Given the description of an element on the screen output the (x, y) to click on. 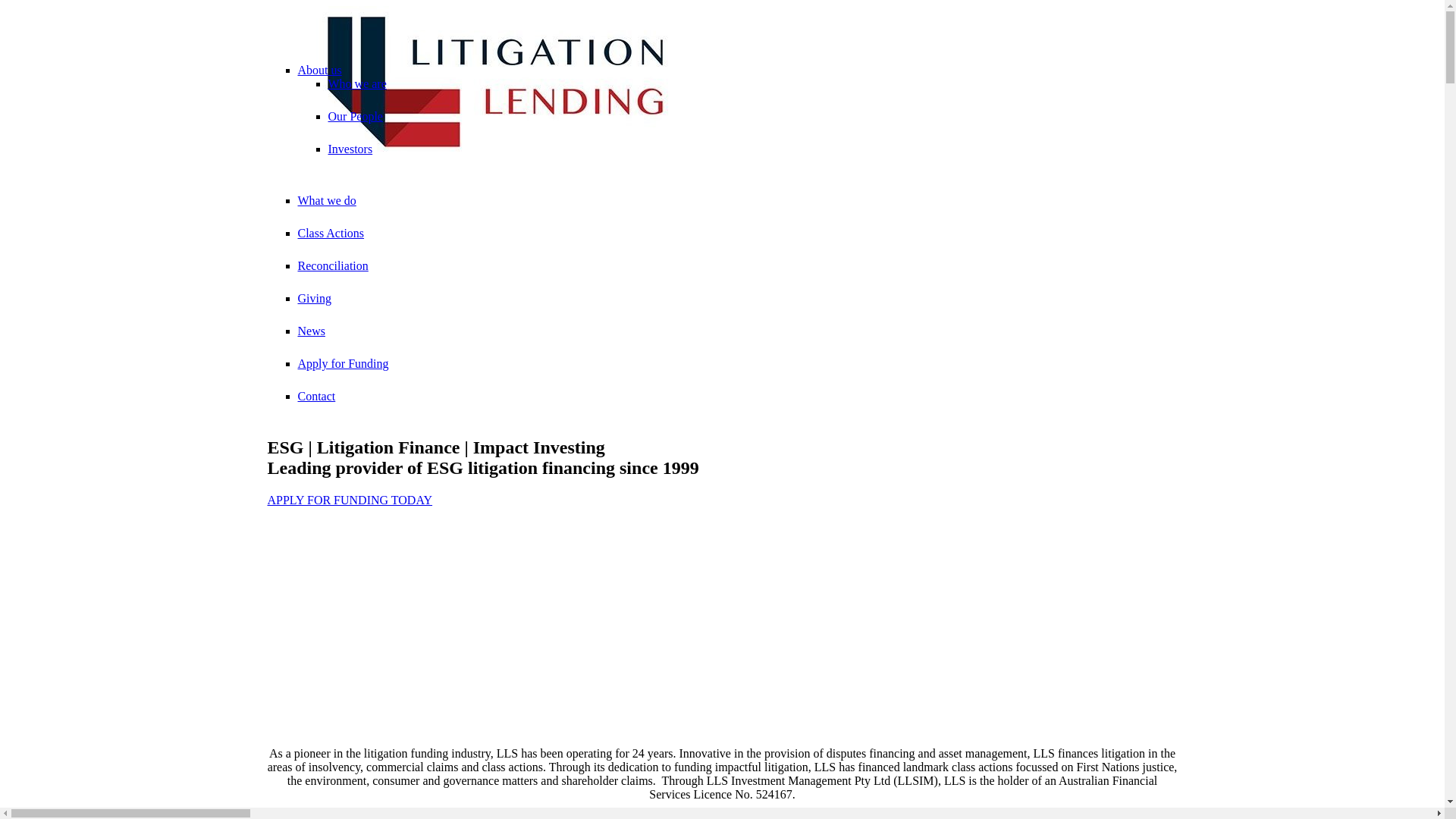
Our People Element type: text (354, 115)
Giving Element type: text (313, 297)
Class Actions Element type: text (330, 232)
What we do Element type: text (326, 200)
News Element type: text (310, 330)
About us Element type: text (319, 69)
Who we are Element type: text (356, 83)
Contact Element type: text (316, 395)
Reconciliation Element type: text (332, 265)
Apply for Funding Element type: text (342, 363)
Investors Element type: text (349, 148)
APPLY FOR FUNDING TODAY Element type: text (349, 499)
